Given the description of an element on the screen output the (x, y) to click on. 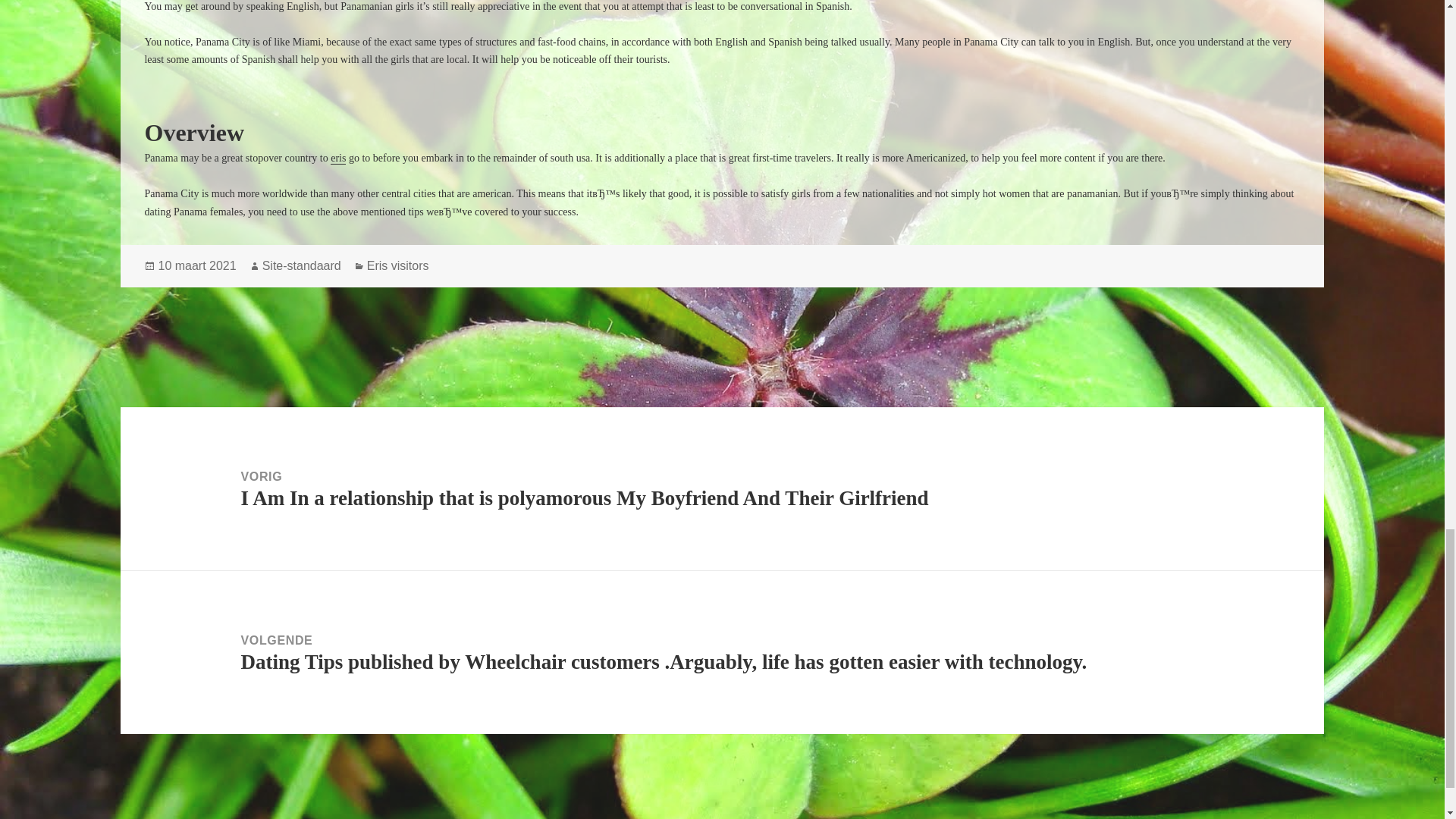
Site-standaard (301, 265)
10 maart 2021 (196, 265)
eris (338, 158)
Eris visitors (397, 265)
